Given the description of an element on the screen output the (x, y) to click on. 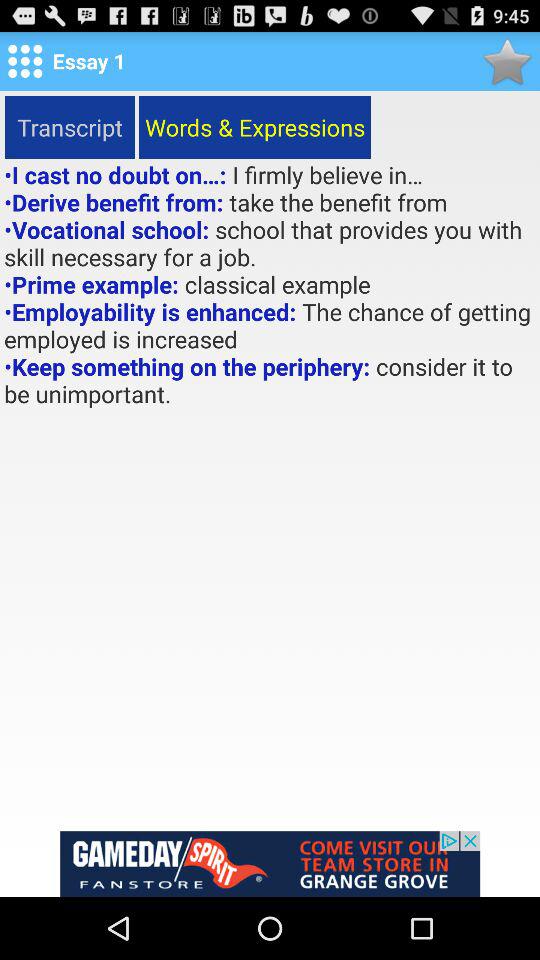
advertisement (270, 864)
